Given the description of an element on the screen output the (x, y) to click on. 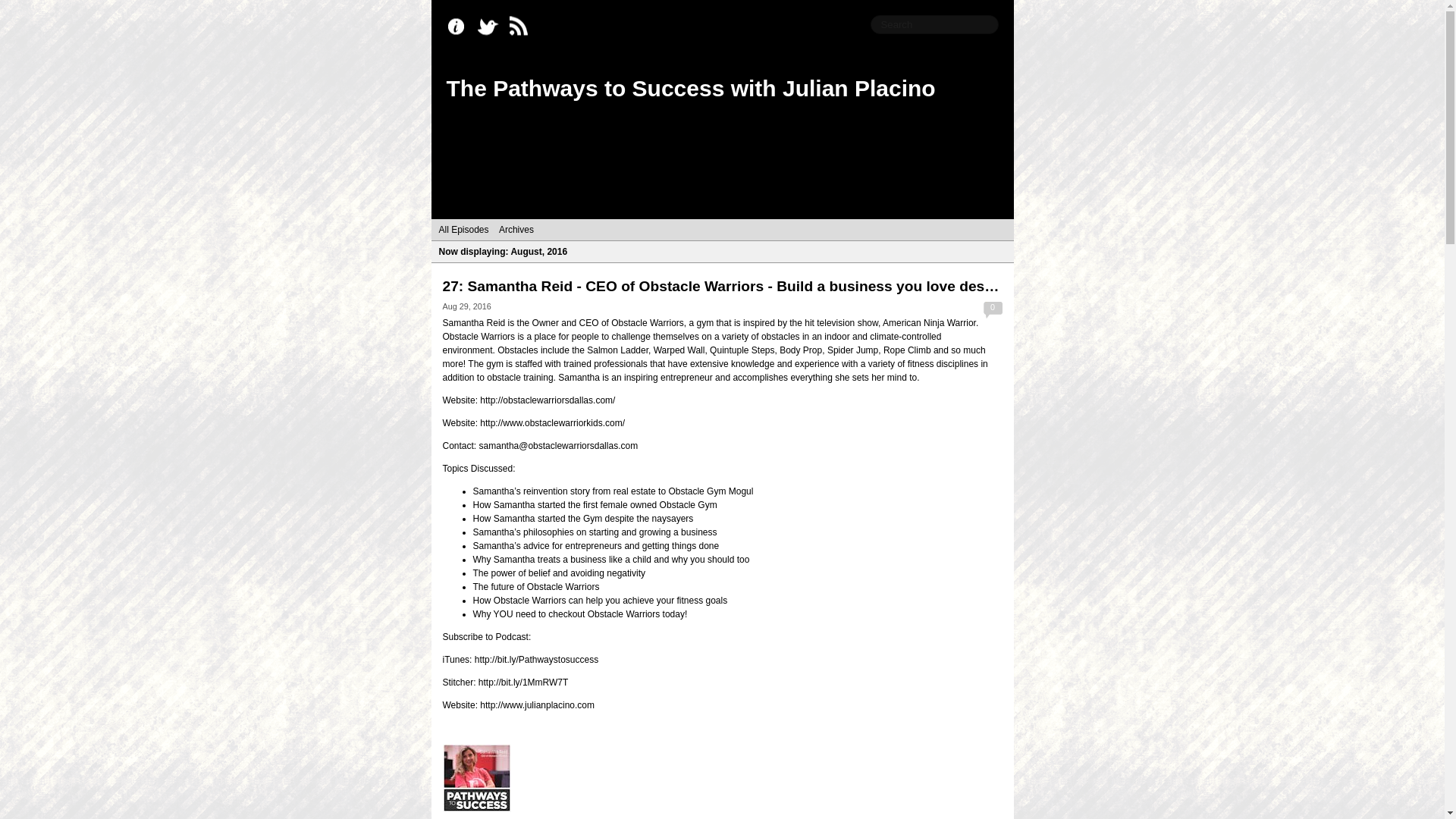
Libsyn Player (722, 777)
The Pathways to Success with Julian Placino (689, 88)
RSS Feed (521, 26)
Twitter (491, 26)
